Given the description of an element on the screen output the (x, y) to click on. 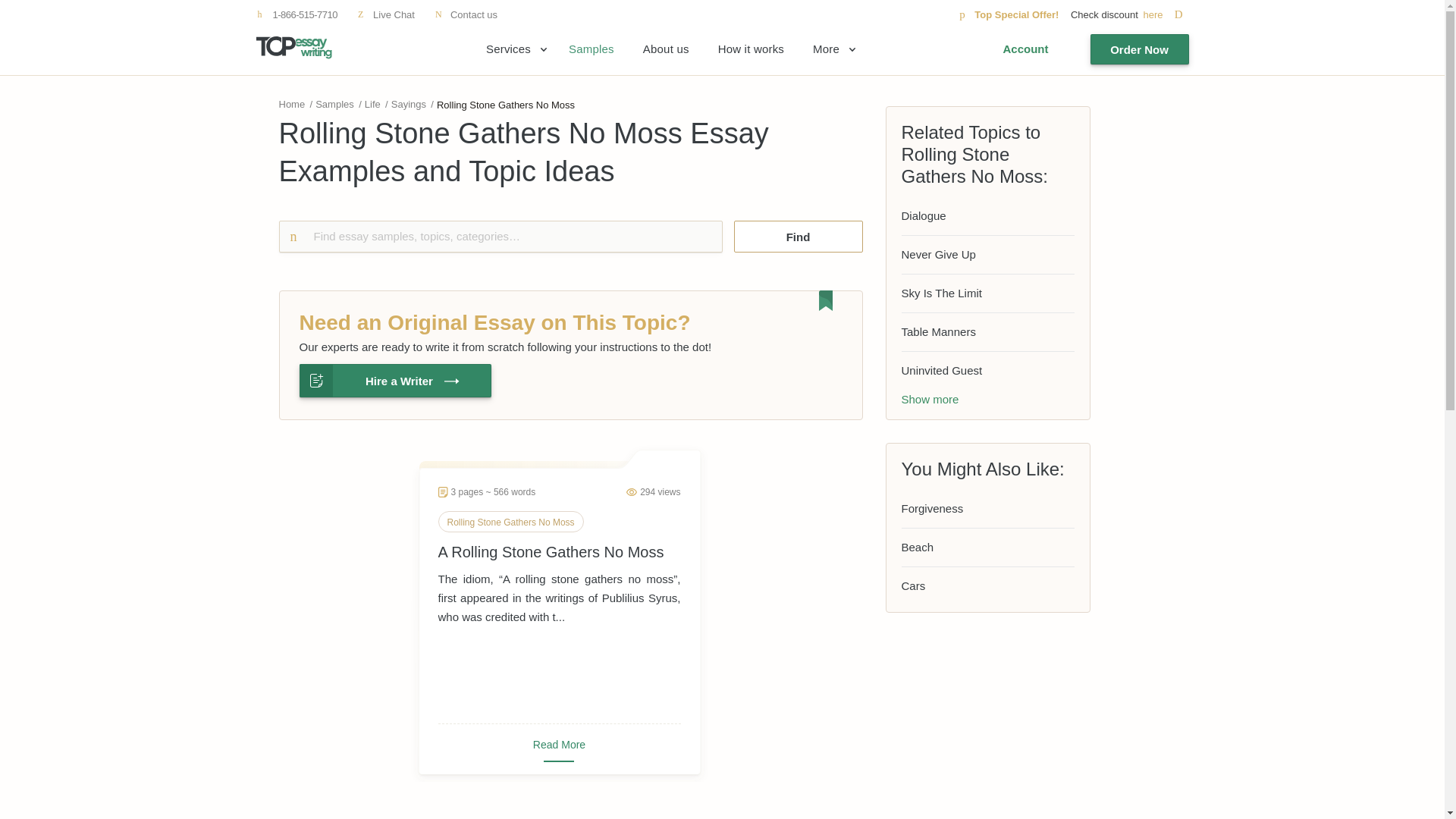
Samples (591, 49)
Live Chat (385, 14)
Samples (334, 103)
Sayings (408, 103)
Contact us (465, 14)
Order Now (1139, 49)
Home (292, 103)
Account (1025, 49)
About us (665, 49)
here (1165, 14)
